Given the description of an element on the screen output the (x, y) to click on. 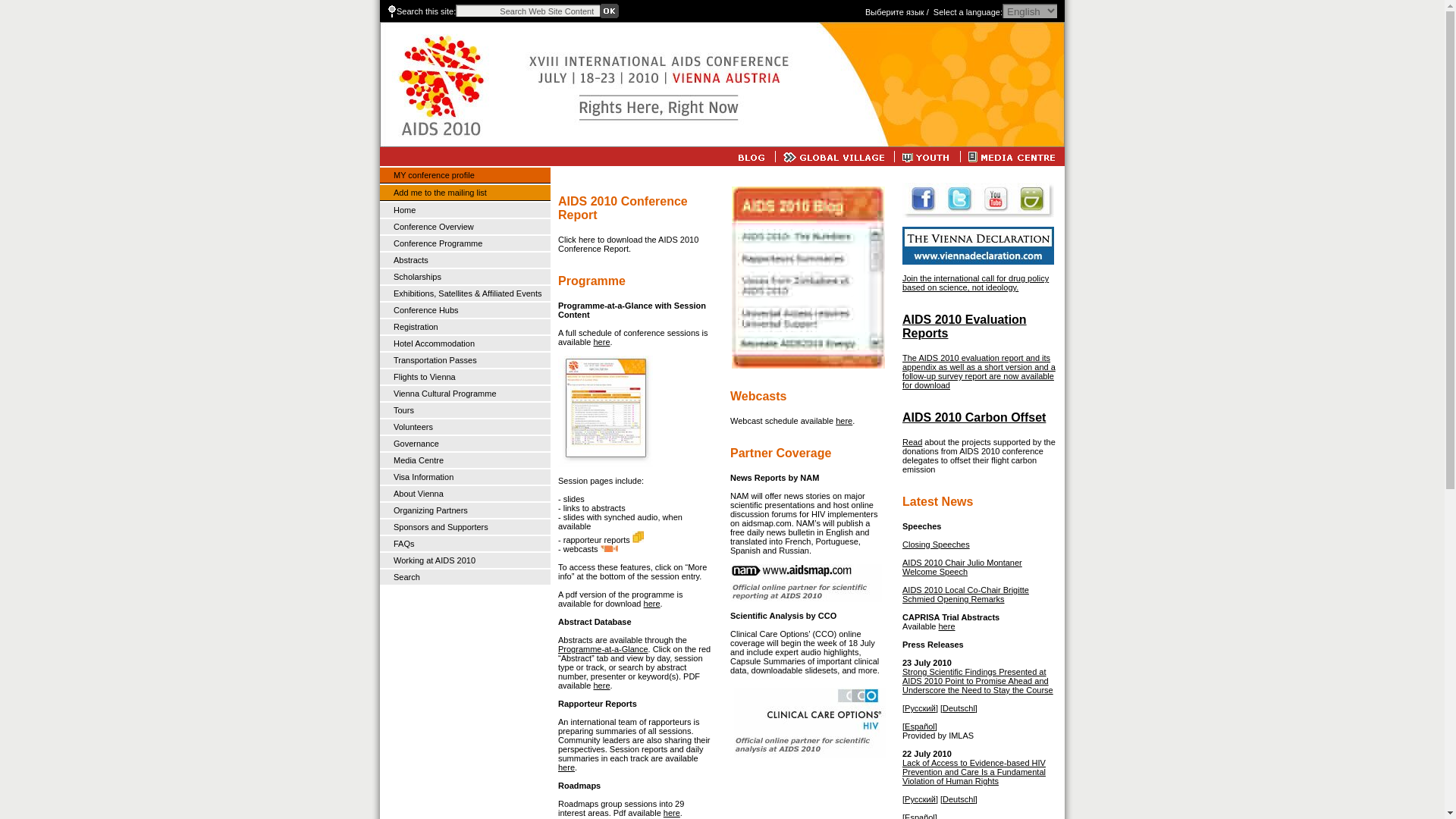
here (652, 603)
Transportation Passes (435, 359)
Visa Information (422, 476)
Volunteers (412, 426)
Scholarships (417, 276)
Conference Programme (437, 243)
Working at AIDS 2010 (434, 560)
Sponsors and Supporters (440, 526)
FAQs (403, 542)
Programme-at-a-Glance (602, 648)
